Given the description of an element on the screen output the (x, y) to click on. 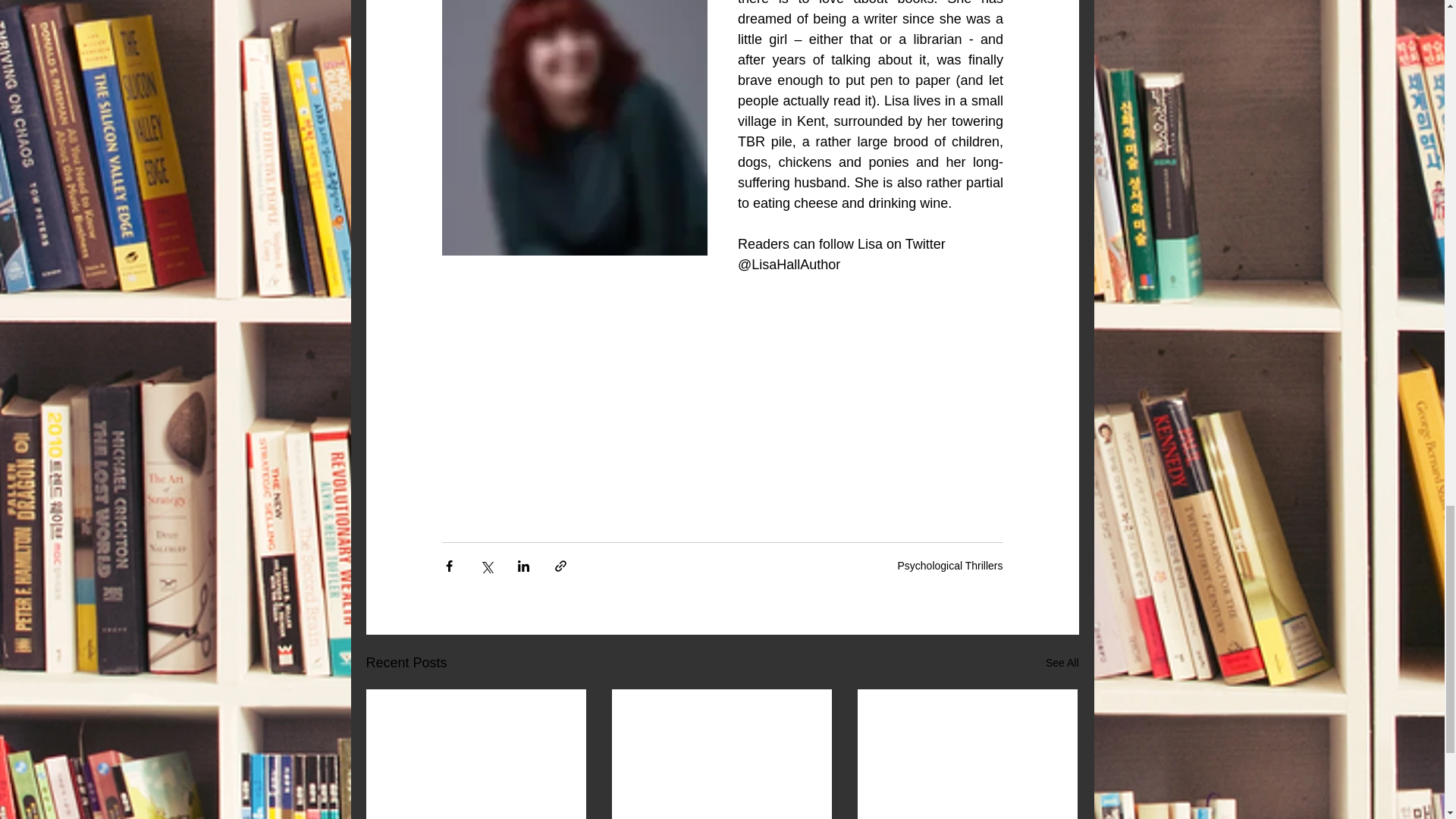
Psychological Thrillers (949, 565)
See All (1061, 662)
